Given the description of an element on the screen output the (x, y) to click on. 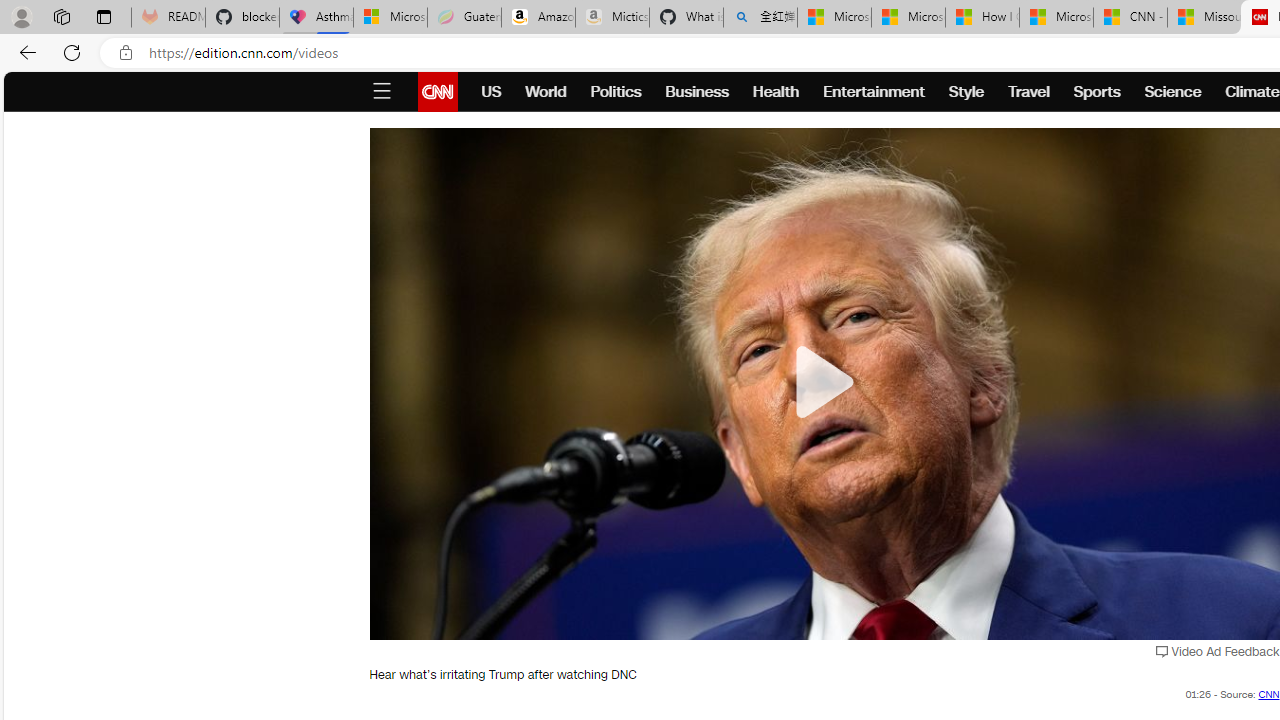
CNN (1269, 694)
Business (697, 92)
CNN logo (437, 92)
